Given the description of an element on the screen output the (x, y) to click on. 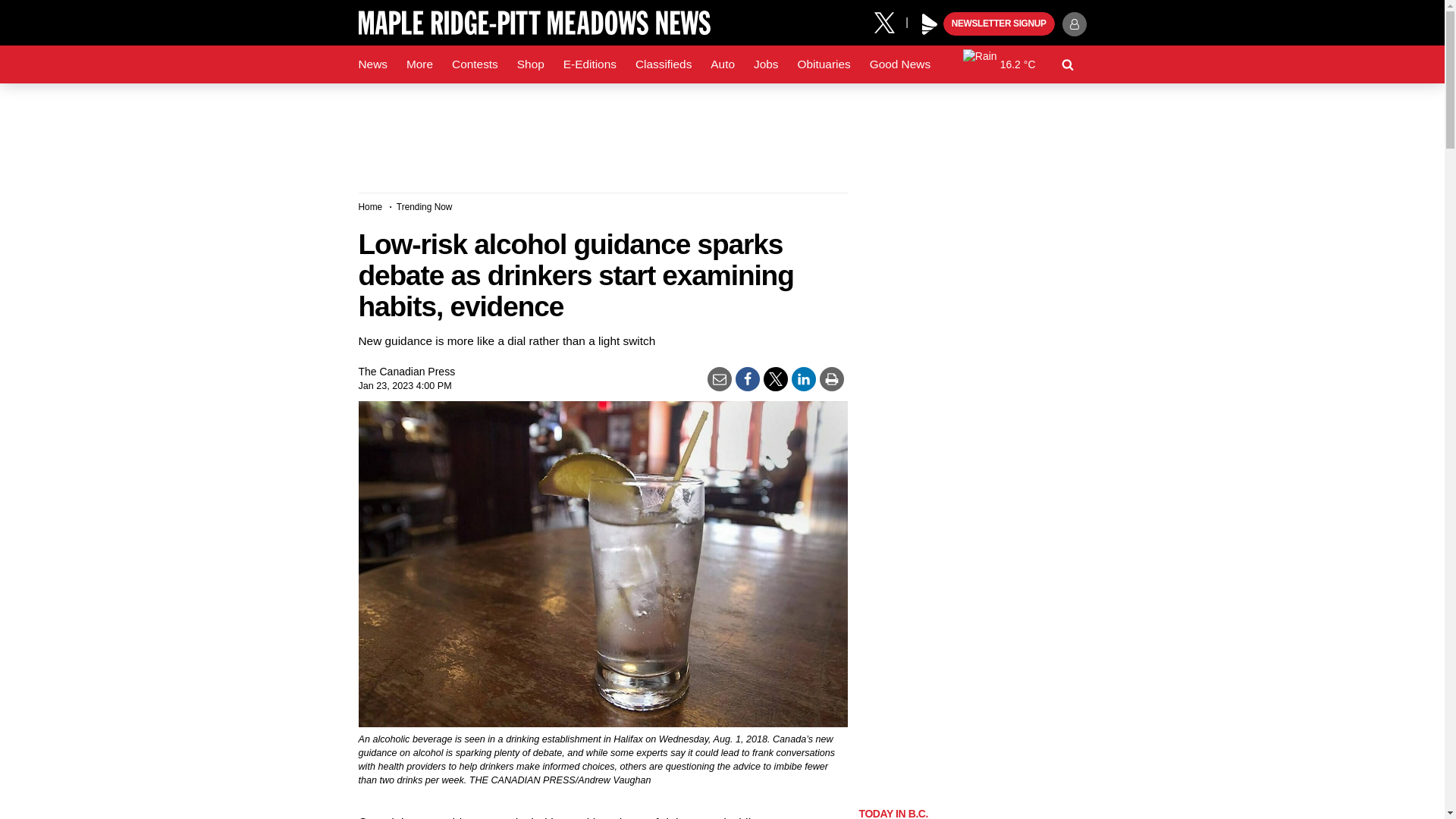
Play (929, 24)
X (889, 21)
Black Press Media (929, 24)
News (372, 64)
NEWSLETTER SIGNUP (998, 24)
